Given the description of an element on the screen output the (x, y) to click on. 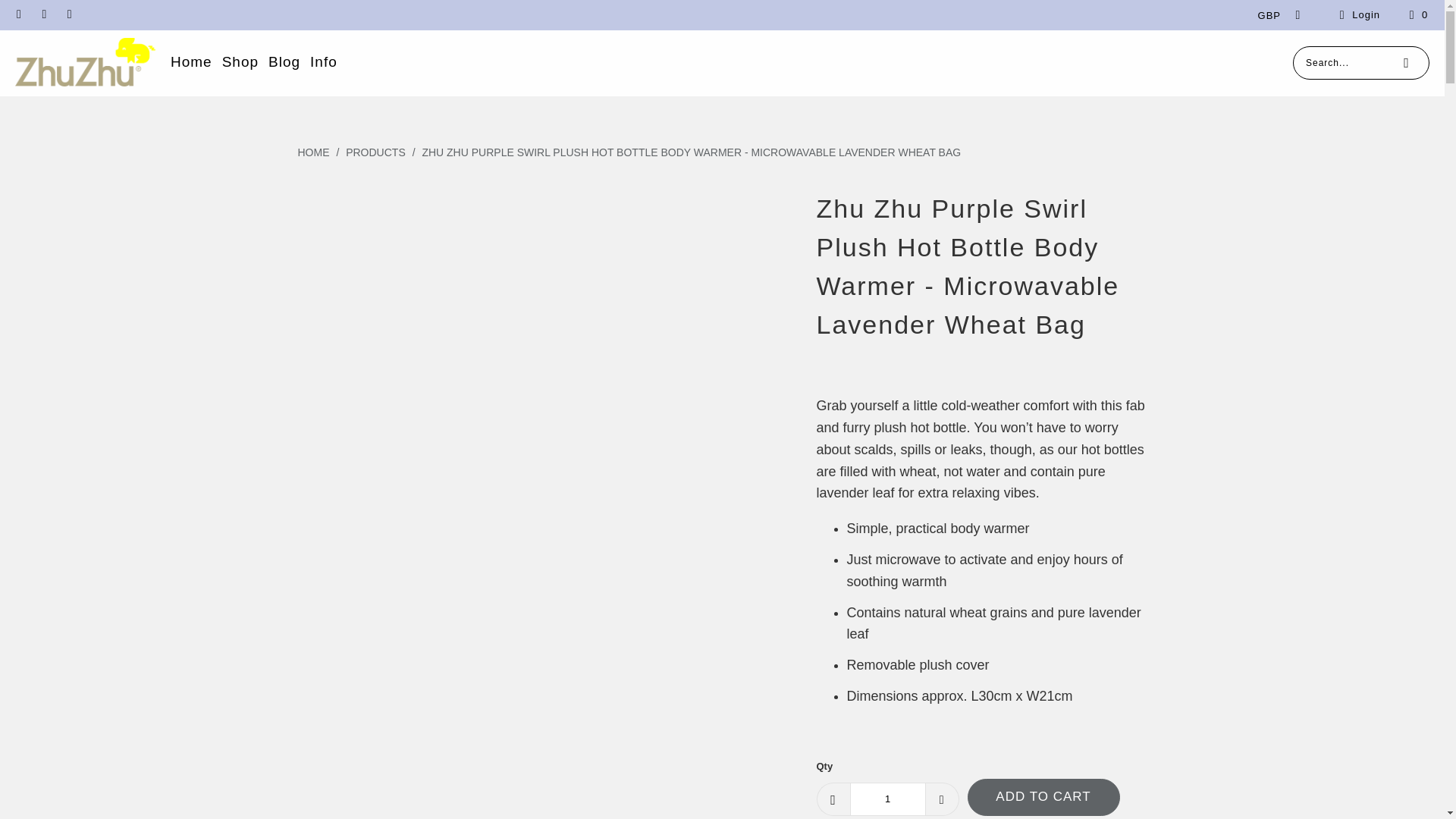
Email Zhu Zhu (17, 14)
1 (886, 798)
My Account  (1357, 15)
Zhu Zhu on Twitter (68, 14)
Zhu Zhu (314, 152)
Products (376, 152)
Zhu Zhu on Facebook (42, 14)
Zhu Zhu (84, 62)
